Given the description of an element on the screen output the (x, y) to click on. 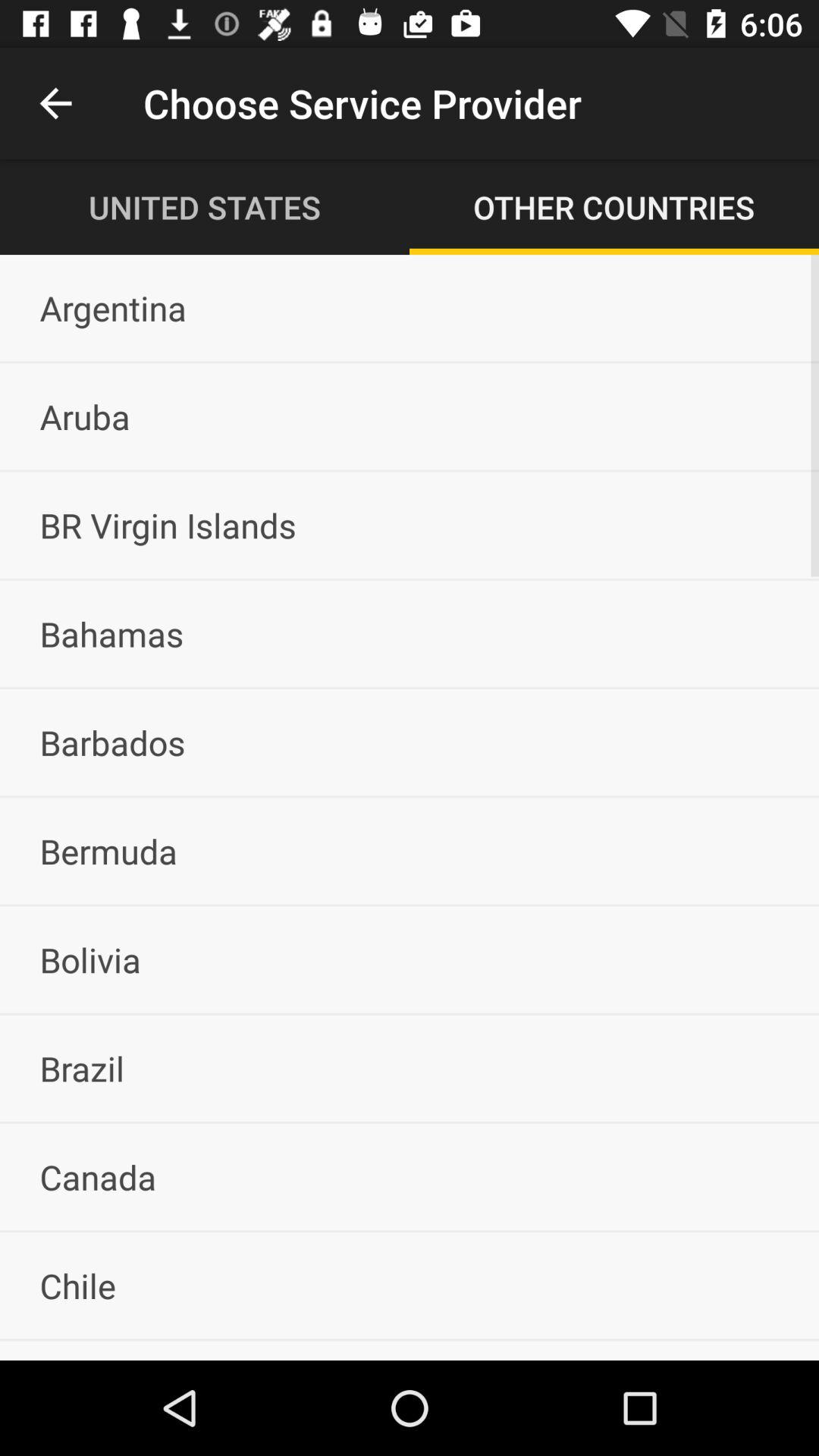
turn off item above the bolivia icon (409, 850)
